Given the description of an element on the screen output the (x, y) to click on. 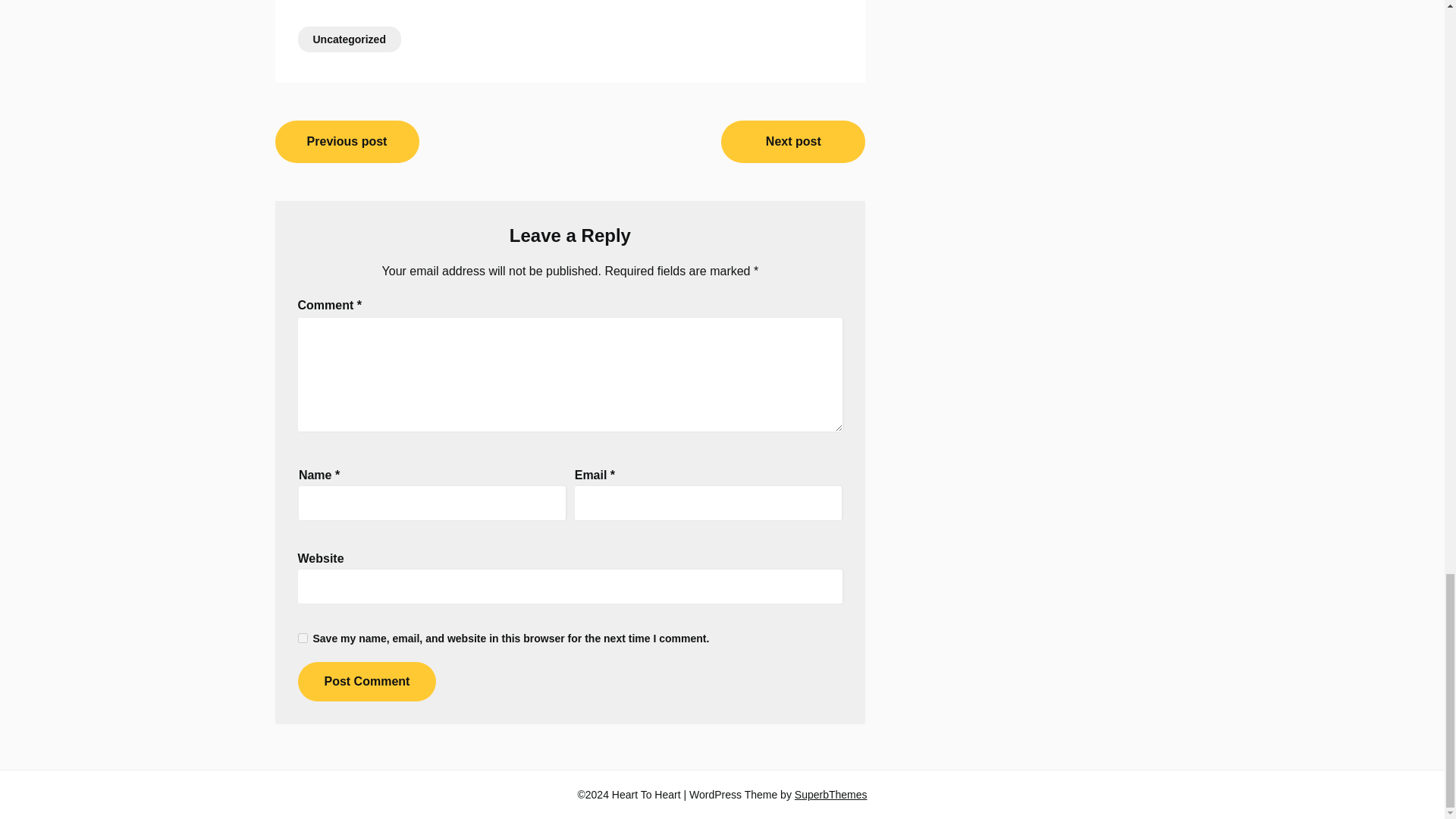
Previous post (347, 141)
Uncategorized (348, 39)
Post Comment (366, 681)
Next post (792, 141)
Post Comment (366, 681)
yes (302, 637)
